Given the description of an element on the screen output the (x, y) to click on. 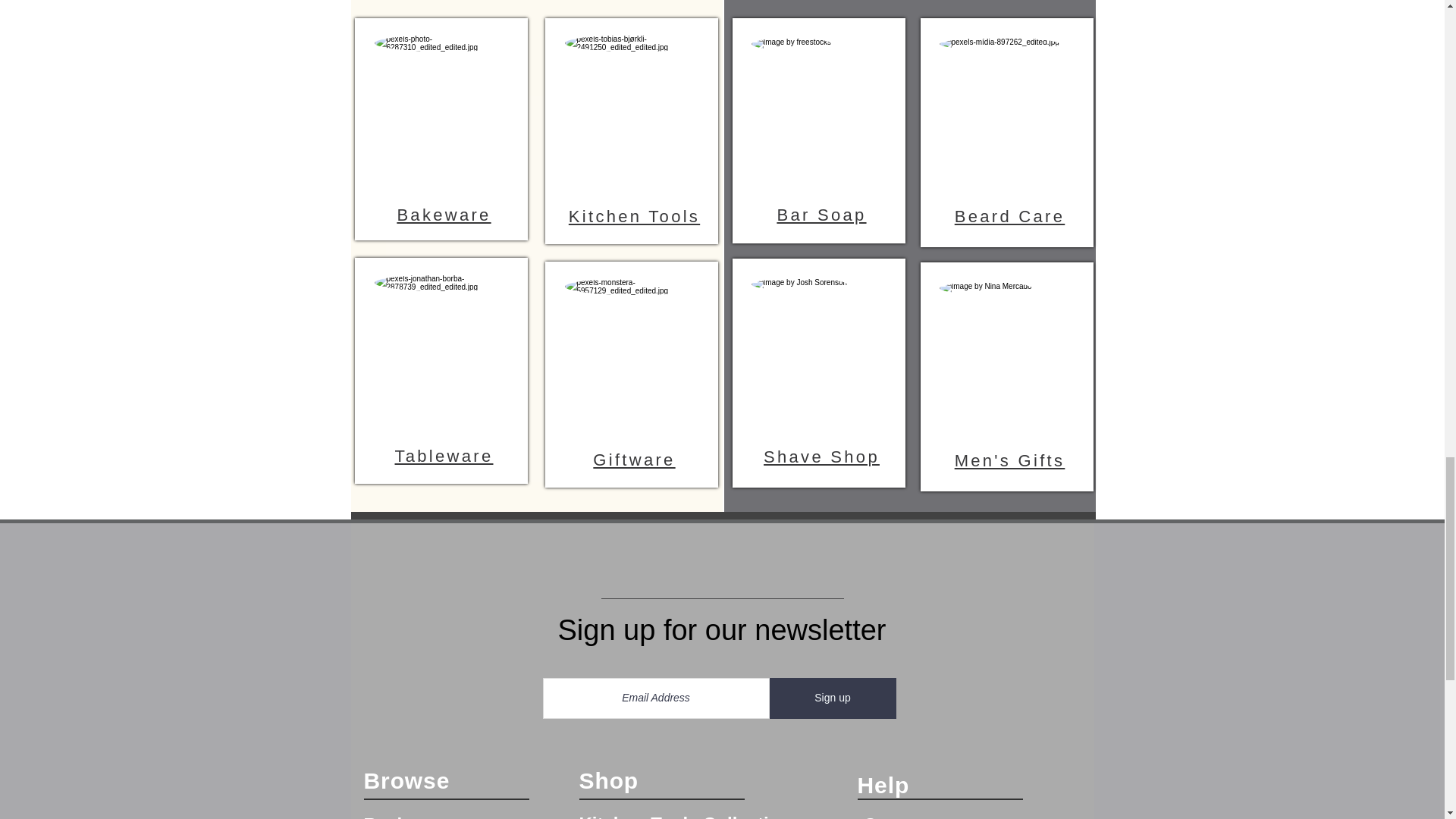
Bar Soap (821, 214)
Tableware (443, 456)
Shave Shop (820, 456)
Men's Gifts (1010, 460)
Beard Care (1010, 216)
Sign up (831, 698)
Giftware (633, 459)
Bakeware (443, 214)
Recipes (398, 816)
Kitchen Tools (634, 216)
